Given the description of an element on the screen output the (x, y) to click on. 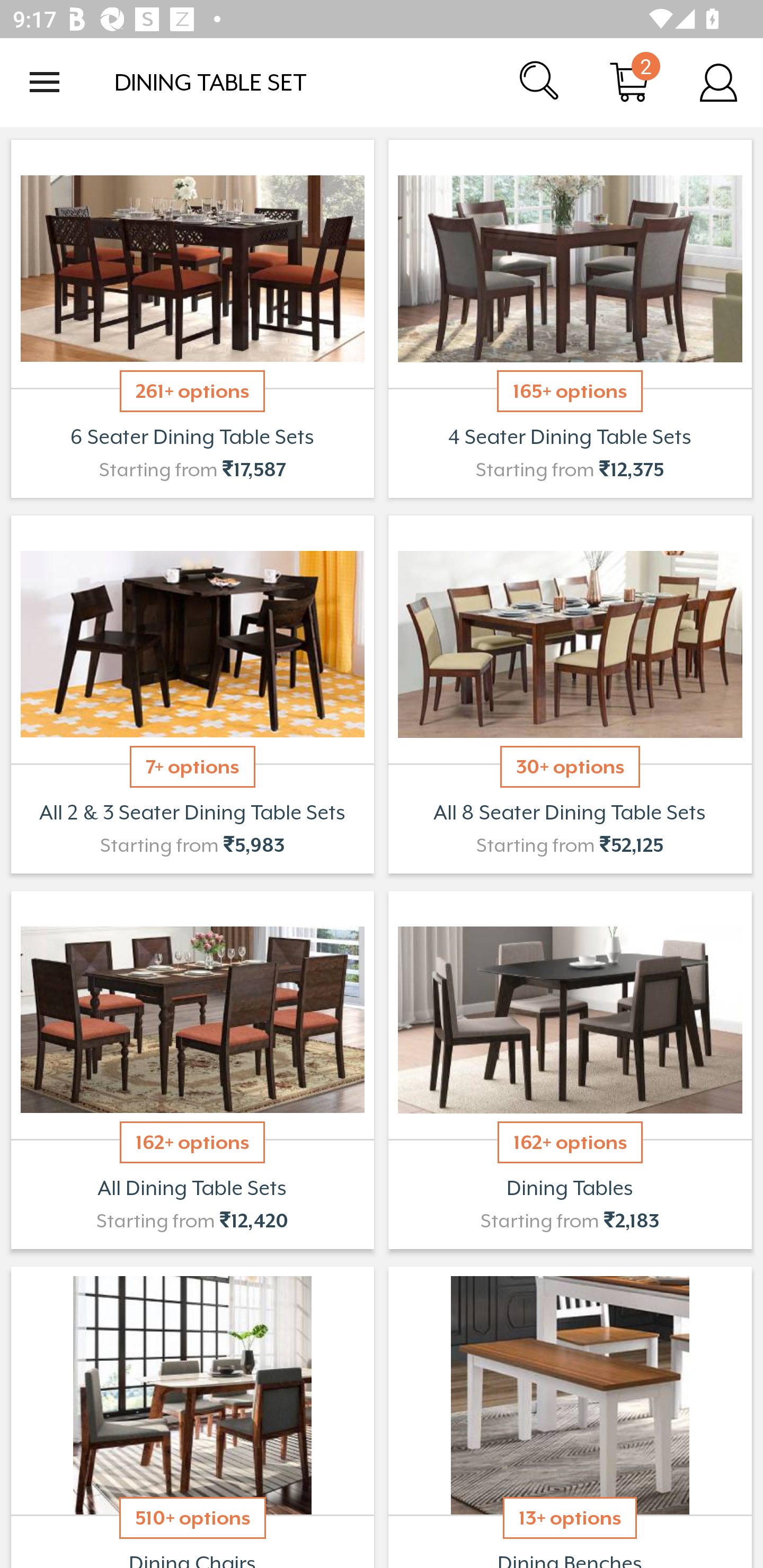
Open navigation drawer (44, 82)
Search (540, 81)
Cart (629, 81)
Account Details (718, 81)
162+ options Dining Tables Starting from  ₹2,183 (570, 1069)
510+ options Dining Chairs (191, 1415)
13+ options Dining Benches (570, 1415)
